Given the description of an element on the screen output the (x, y) to click on. 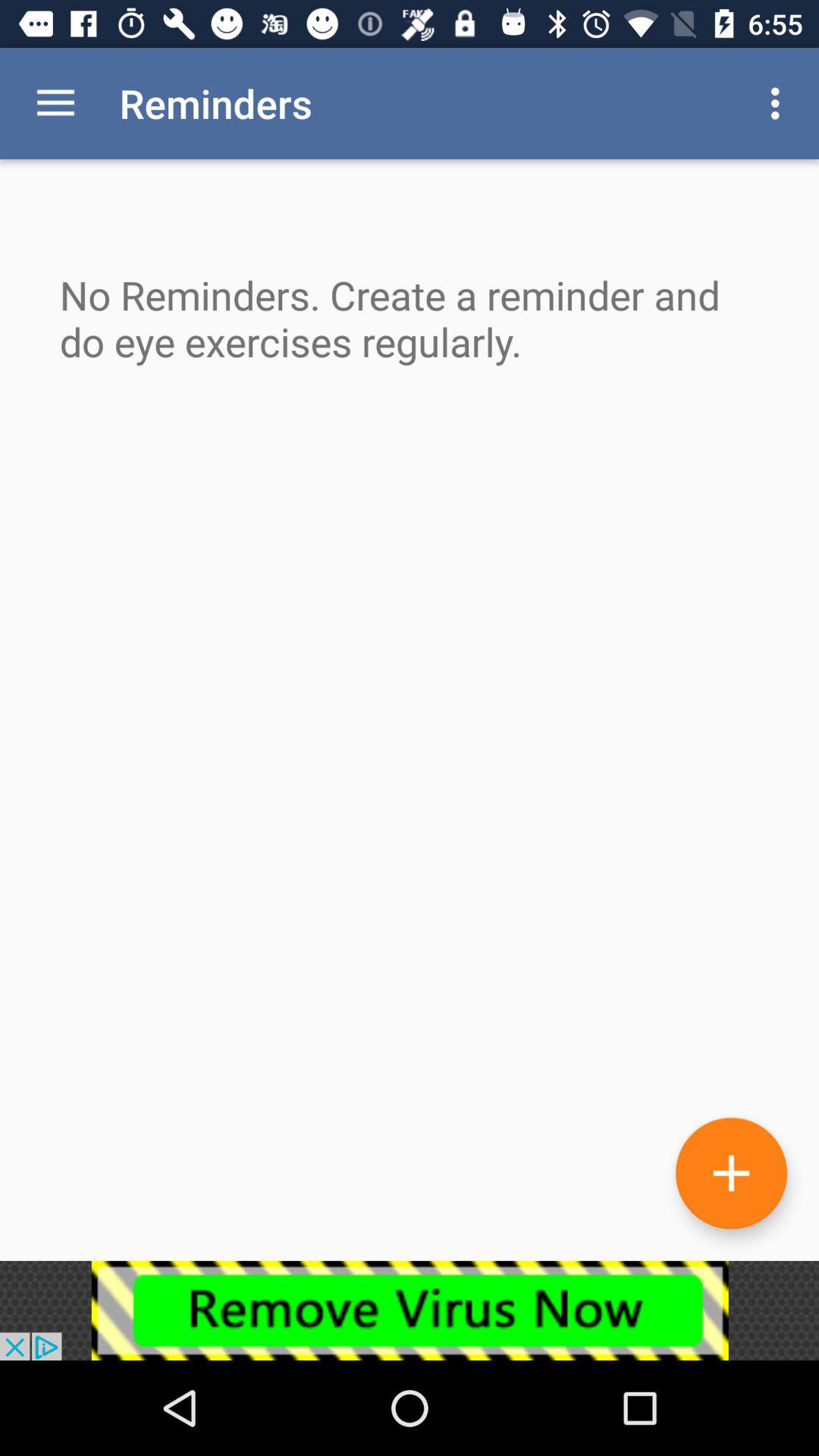
advertisement (409, 1310)
